Given the description of an element on the screen output the (x, y) to click on. 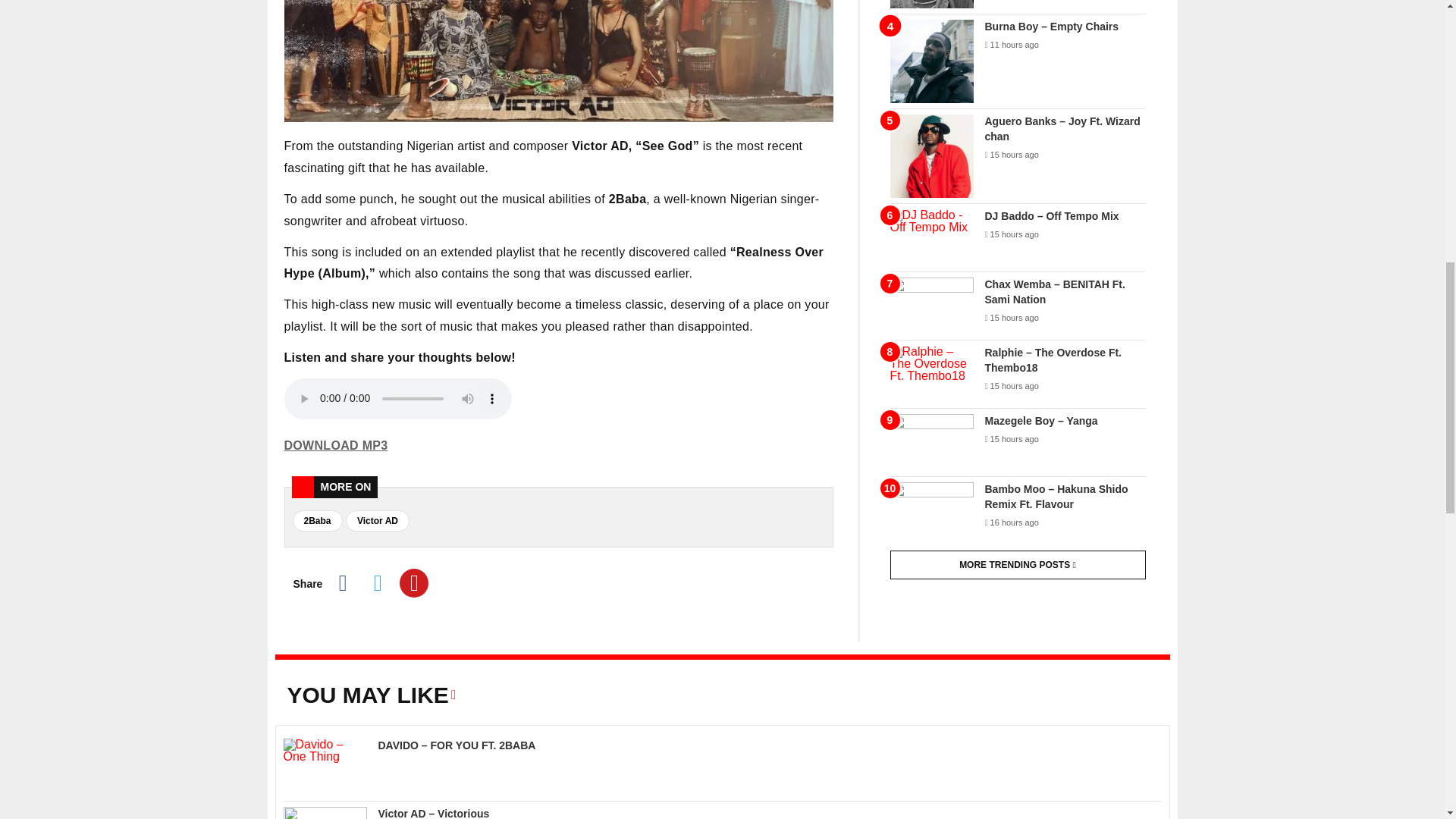
DOWNLOAD MP3 (335, 445)
Victor AD (377, 520)
2Baba (317, 520)
